Given the description of an element on the screen output the (x, y) to click on. 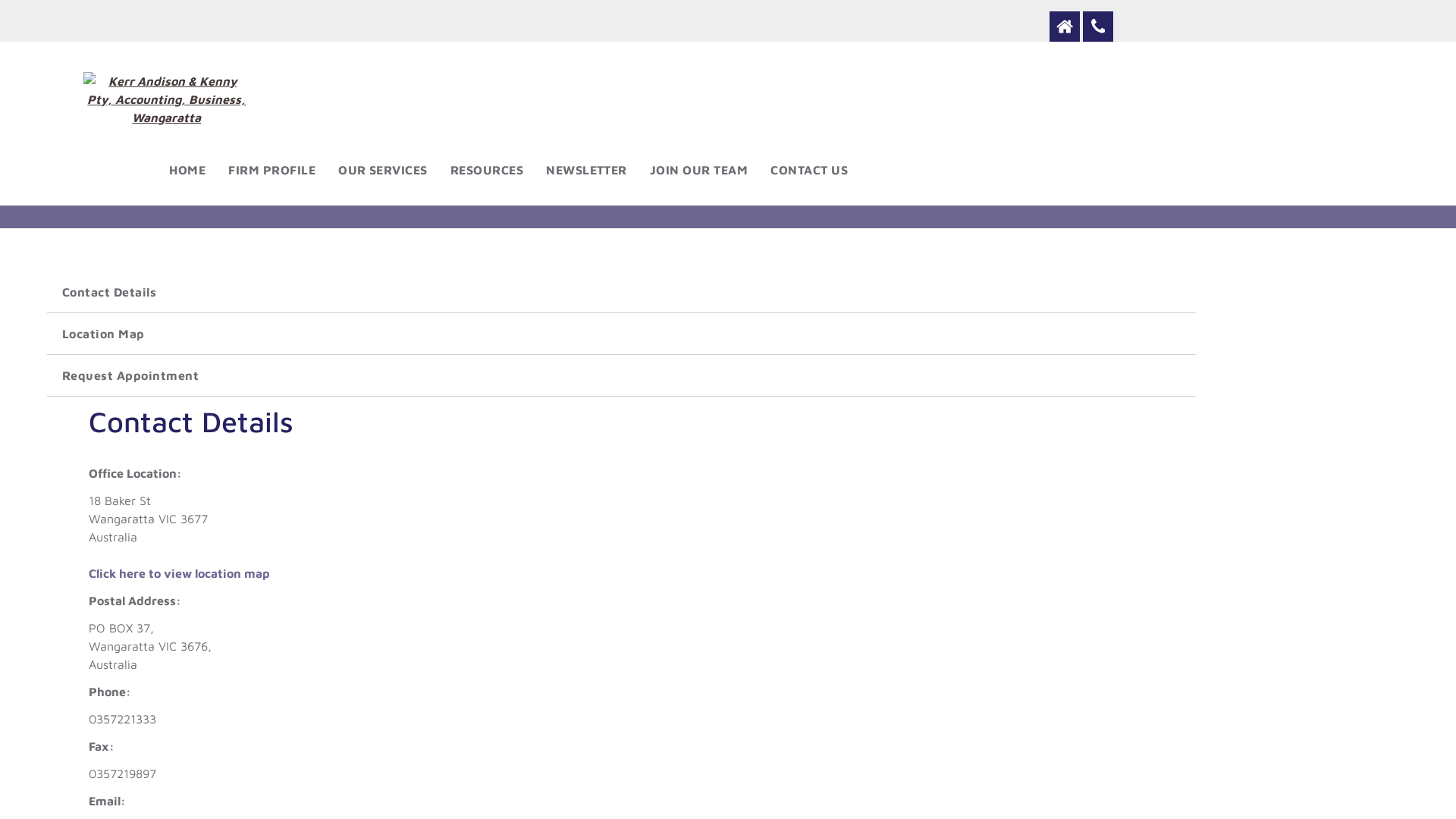
Location Map Element type: text (621, 333)
JOIN OUR TEAM Element type: text (698, 169)
RESOURCES Element type: text (486, 169)
home Element type: text (1064, 26)
Click here to view location map Element type: text (178, 573)
OUR SERVICES Element type: text (382, 169)
Request Appointment Element type: text (621, 374)
NEWSLETTER Element type: text (586, 169)
HOME Element type: text (186, 169)
CONTACT US Element type: text (809, 169)
contact_us/contact_details Element type: text (1097, 26)
FIRM PROFILE Element type: text (271, 169)
Contact Details Element type: text (621, 291)
